Given the description of an element on the screen output the (x, y) to click on. 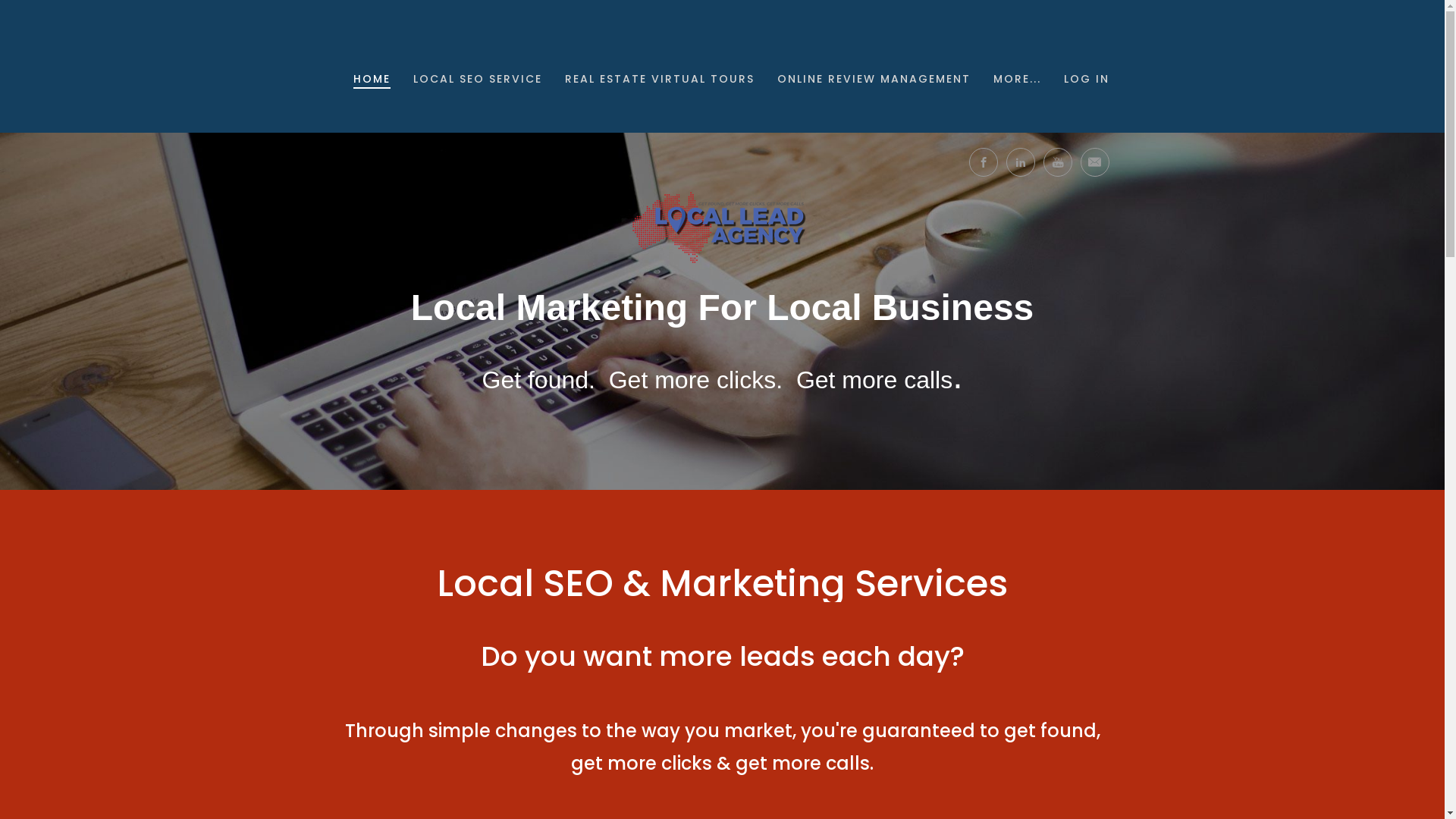
HOME Element type: text (371, 80)
ONLINE REVIEW MANAGEMENT Element type: text (873, 80)
LOG IN Element type: text (1086, 80)
REAL ESTATE VIRTUAL TOURS Element type: text (659, 80)
LOCAL SEO SERVICE Element type: text (477, 80)
MORE... Element type: text (1017, 80)
